Given the description of an element on the screen output the (x, y) to click on. 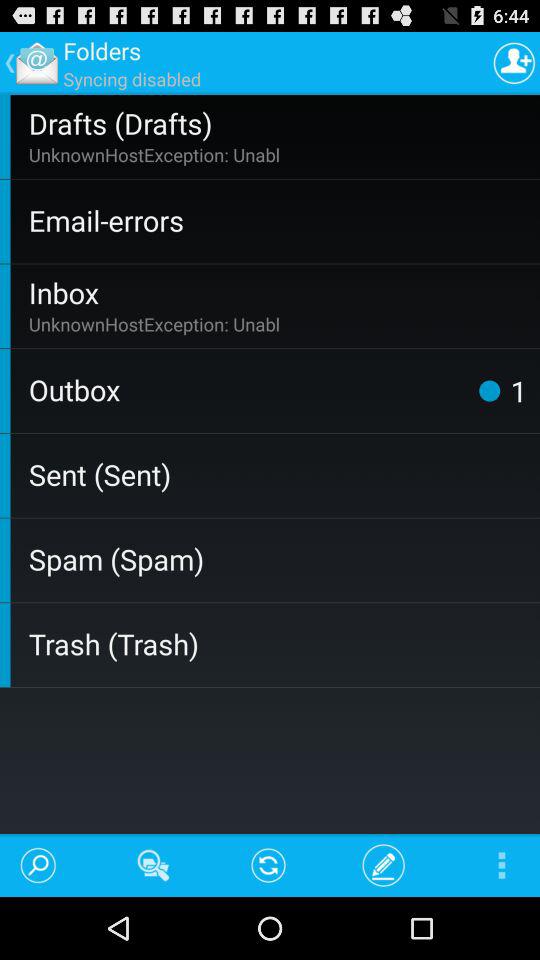
turn off trash (trash) icon (280, 643)
